Given the description of an element on the screen output the (x, y) to click on. 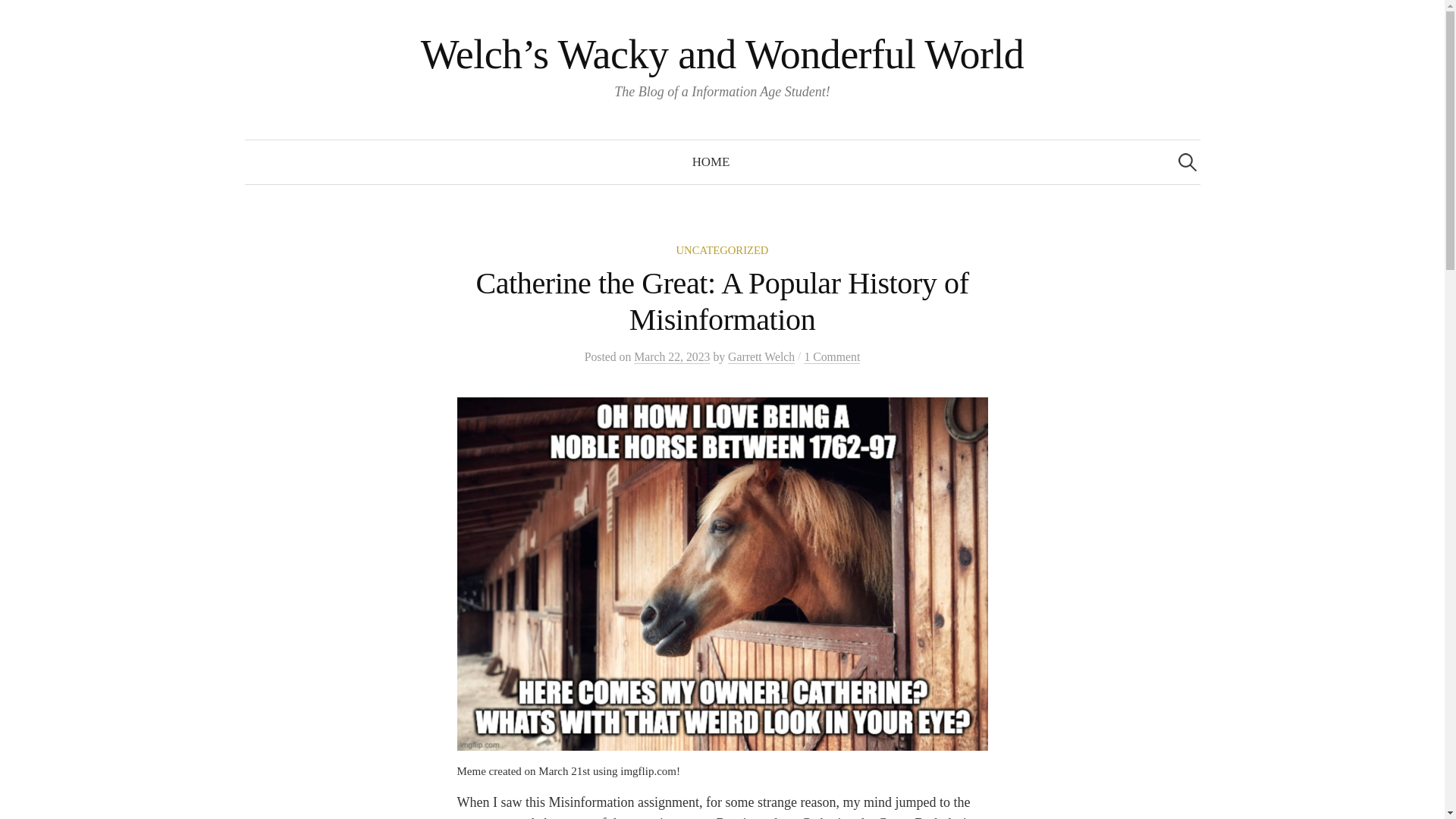
Garrett Welch (761, 356)
UNCATEGORIZED (722, 250)
HOME (711, 162)
March 22, 2023 (671, 356)
1 Comment (831, 356)
View all posts by Garrett Welch (761, 356)
Search (18, 18)
